Given the description of an element on the screen output the (x, y) to click on. 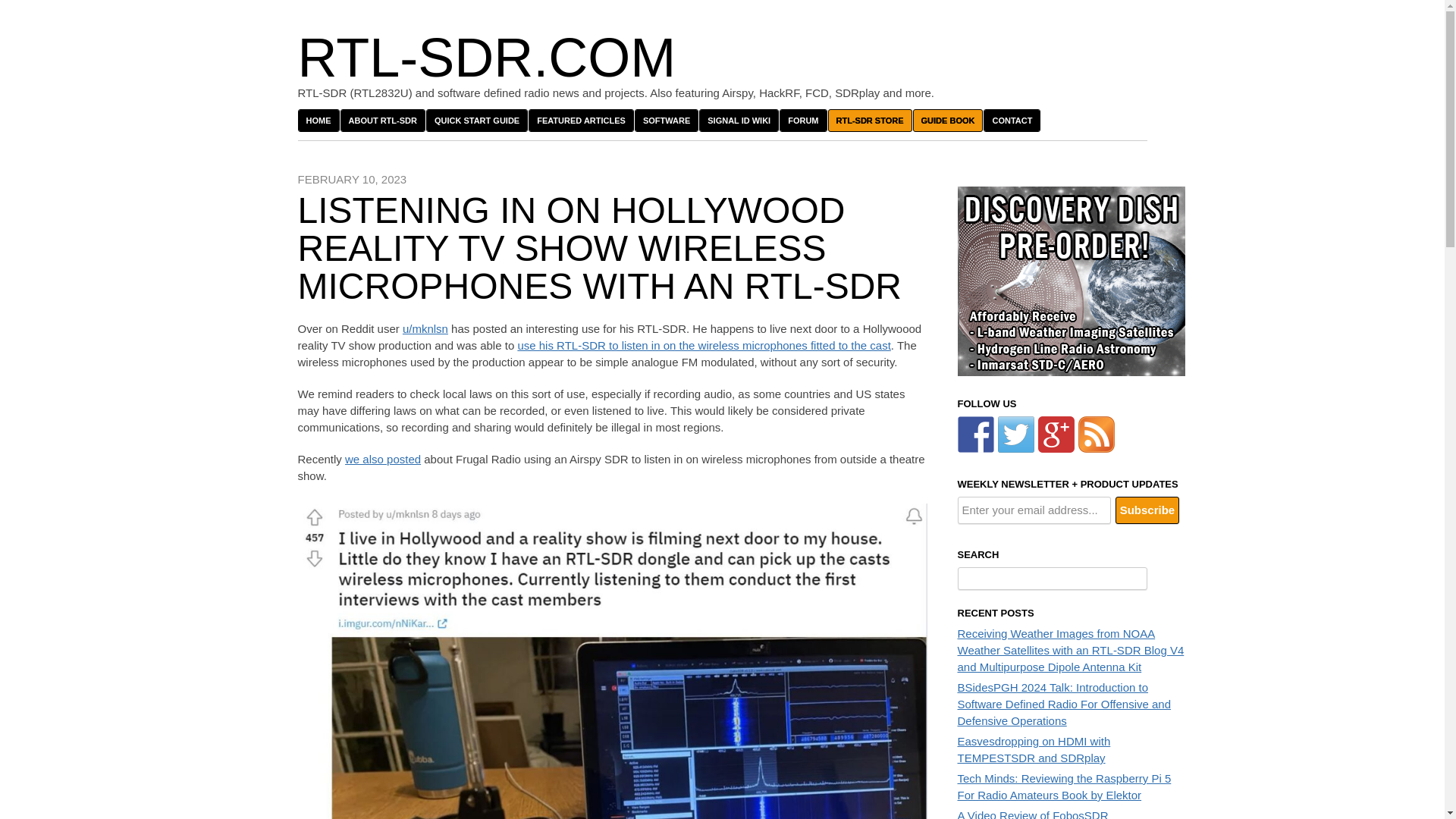
rtl-sdr.com (486, 57)
Enter your email address... (1032, 510)
ABOUT RTL-SDR (382, 119)
Subscribe (1147, 510)
RTL-SDR.COM (486, 57)
FEATURED ARTICLES (580, 119)
HOME (318, 119)
QUICK START GUIDE (476, 119)
